Given the description of an element on the screen output the (x, y) to click on. 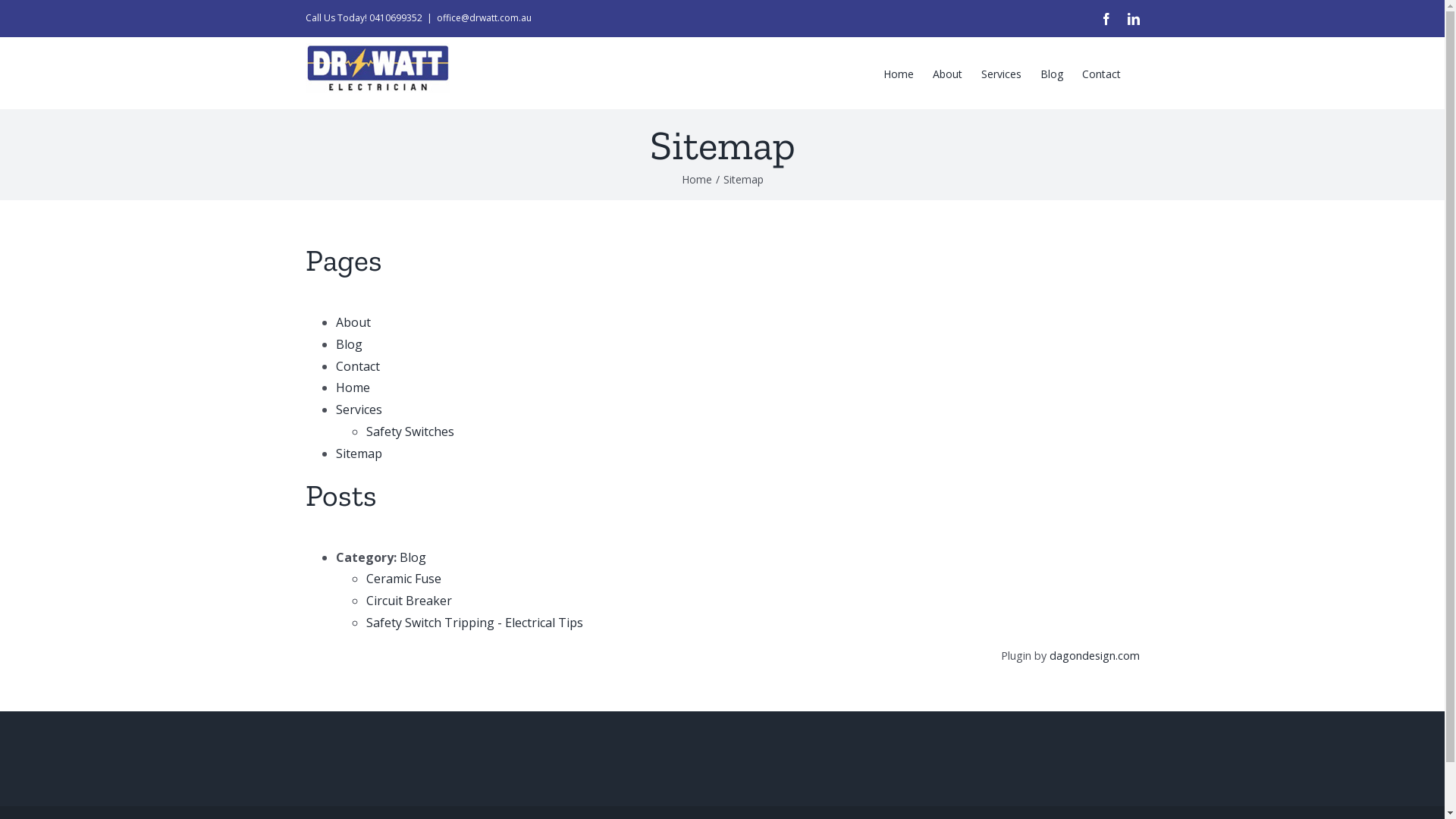
Blog Element type: text (348, 343)
Facebook Element type: text (1105, 18)
Blog Element type: text (1051, 72)
Home Element type: text (897, 72)
Contact Element type: text (357, 365)
office@drwatt.com.au Element type: text (483, 17)
About Element type: text (947, 72)
Safety Switch Tripping - Electrical Tips Element type: text (473, 622)
Contact Element type: text (1100, 72)
dagondesign.com Element type: text (1094, 655)
Sitemap Element type: text (358, 453)
Services Element type: text (1001, 72)
LinkedIn Element type: text (1132, 18)
Safety Switches Element type: text (409, 431)
Services Element type: text (358, 409)
Circuit Breaker Element type: text (408, 600)
Ceramic Fuse Element type: text (402, 578)
Blog Element type: text (411, 557)
Home Element type: text (695, 179)
Home Element type: text (352, 387)
About Element type: text (352, 321)
